Given the description of an element on the screen output the (x, y) to click on. 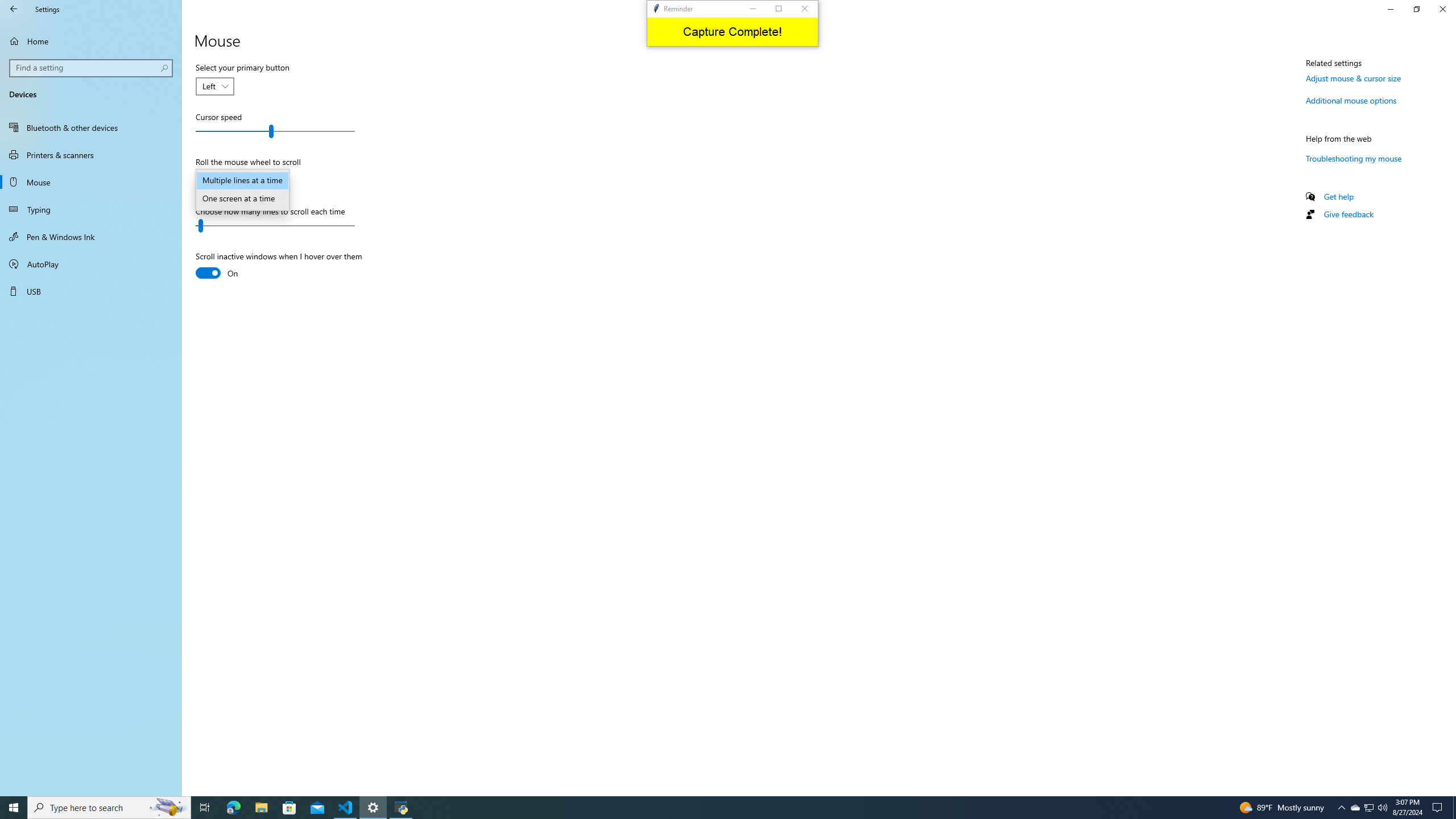
Left (208, 86)
Pen & Windows Ink (91, 236)
Printers & scanners (91, 154)
Multiple lines at a time (242, 180)
